Given the description of an element on the screen output the (x, y) to click on. 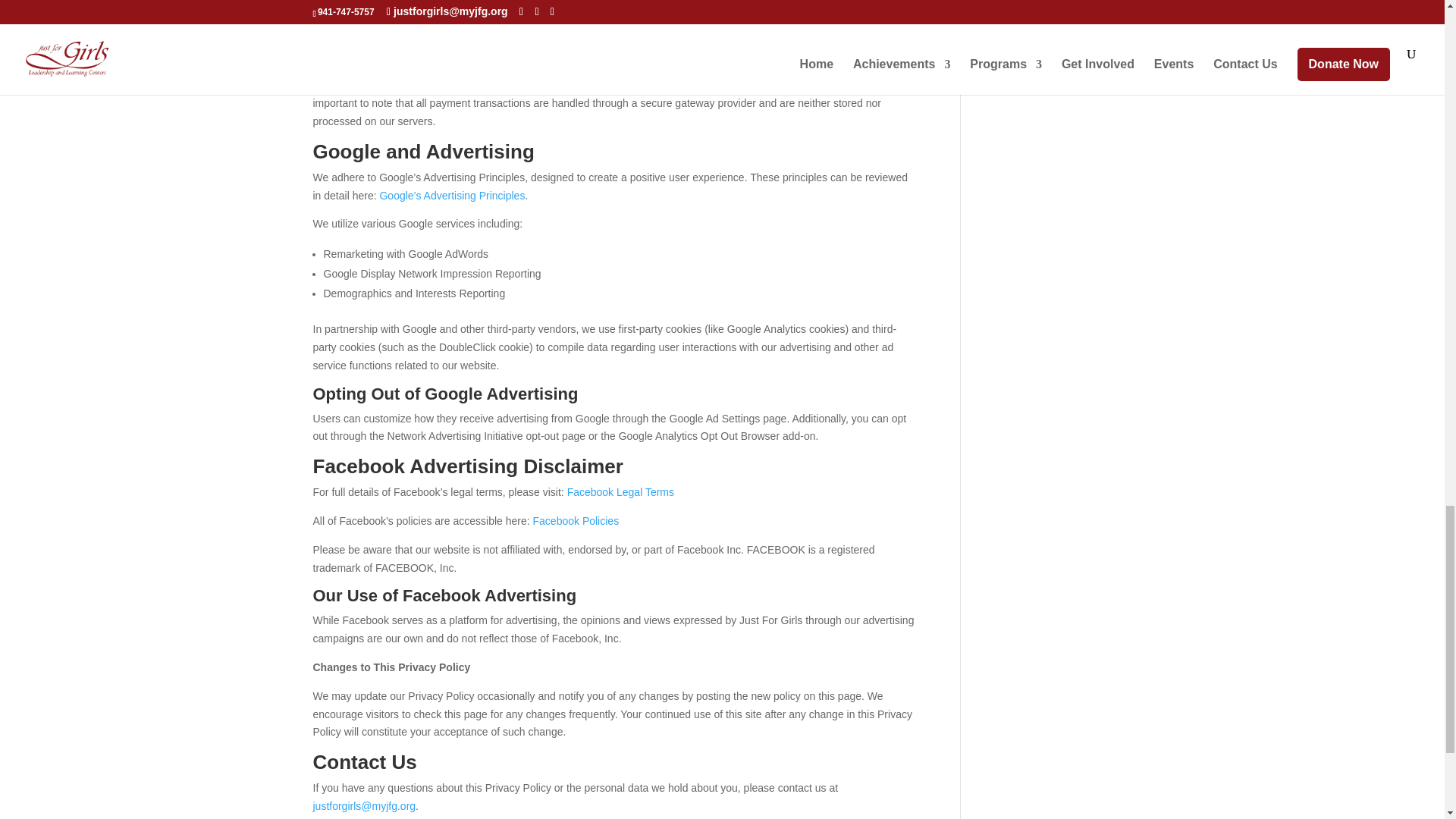
Facebook Policies (576, 521)
Facebook Legal Terms (620, 491)
